Given the description of an element on the screen output the (x, y) to click on. 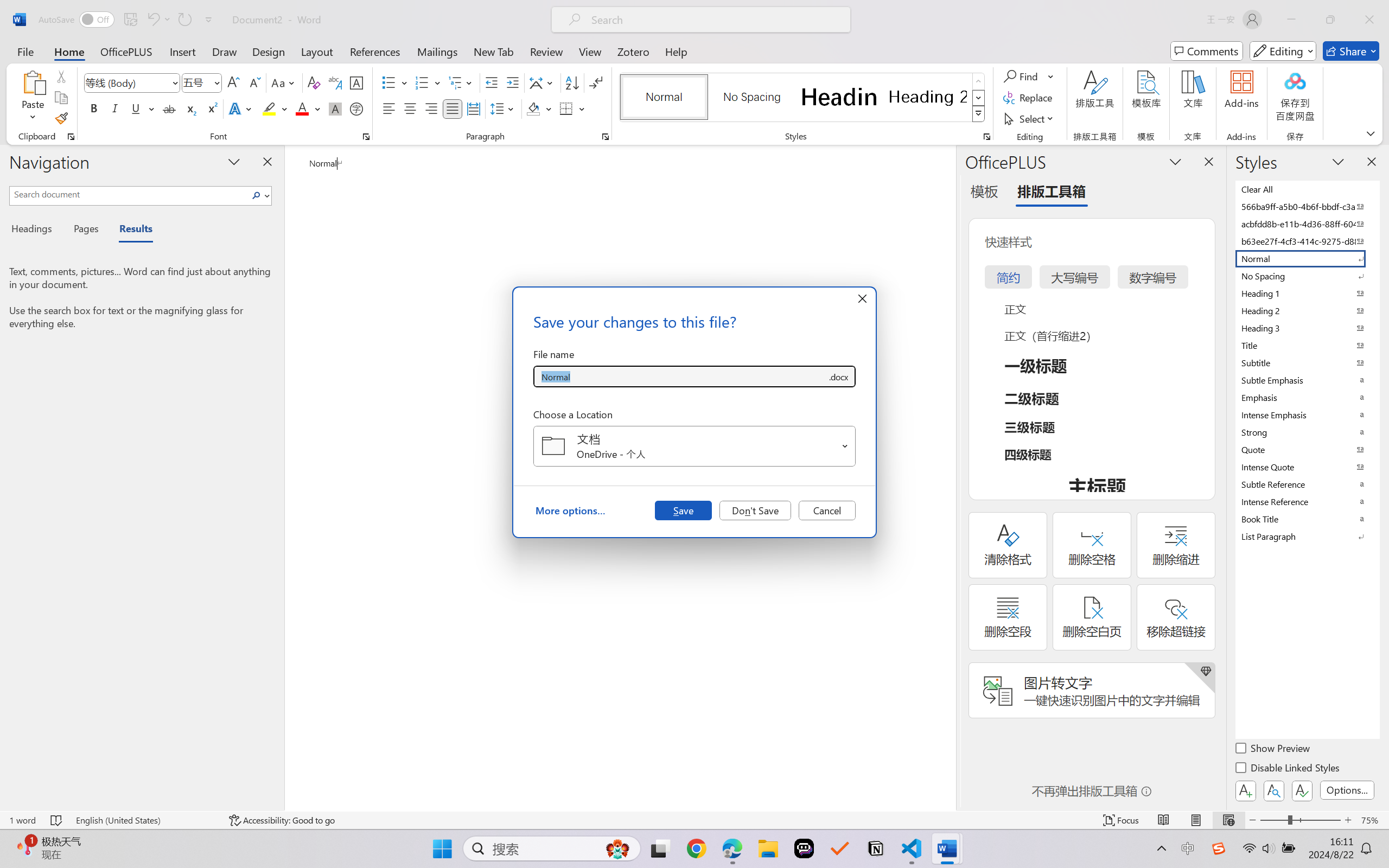
Show Preview (1273, 749)
Quote (1306, 449)
Decrease Indent (491, 82)
Customize Quick Access Toolbar (208, 19)
Word Count 1 word (21, 819)
Comments (1206, 50)
Heading 3 (1306, 327)
Subtitle (1306, 362)
